Given the description of an element on the screen output the (x, y) to click on. 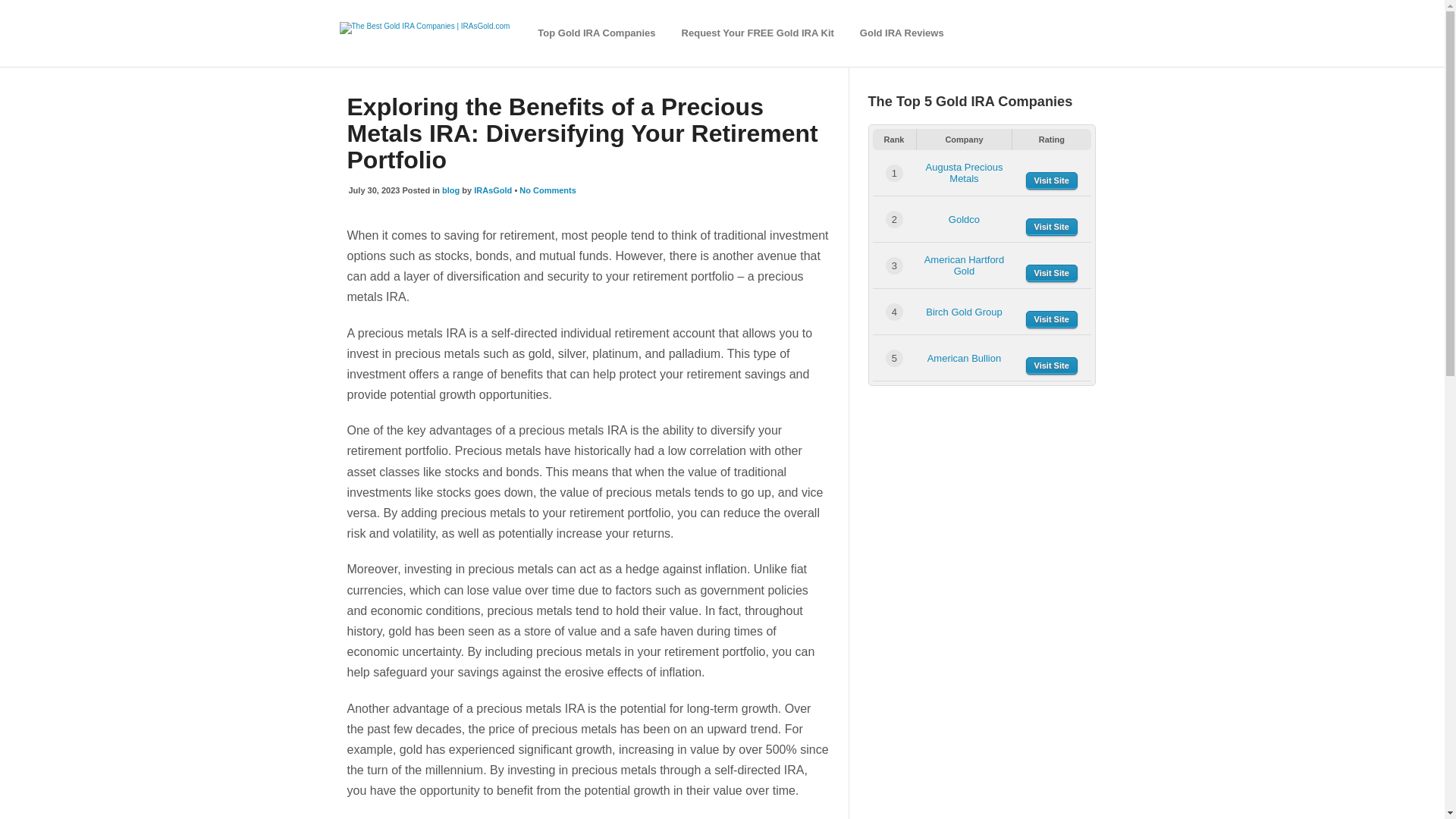
American Hartford Gold (964, 264)
IRAsGold (493, 189)
Visit (1051, 365)
Goldco (964, 219)
Visit (1051, 272)
blog (451, 189)
Visit (1051, 319)
Gold IRA Reviews (901, 32)
American Bullion (964, 357)
Visit Site (1051, 319)
American Bullion (964, 357)
Visit Site (1051, 365)
Augusta Precious Metals (963, 172)
No Comments (547, 189)
Goldco (964, 219)
